Given the description of an element on the screen output the (x, y) to click on. 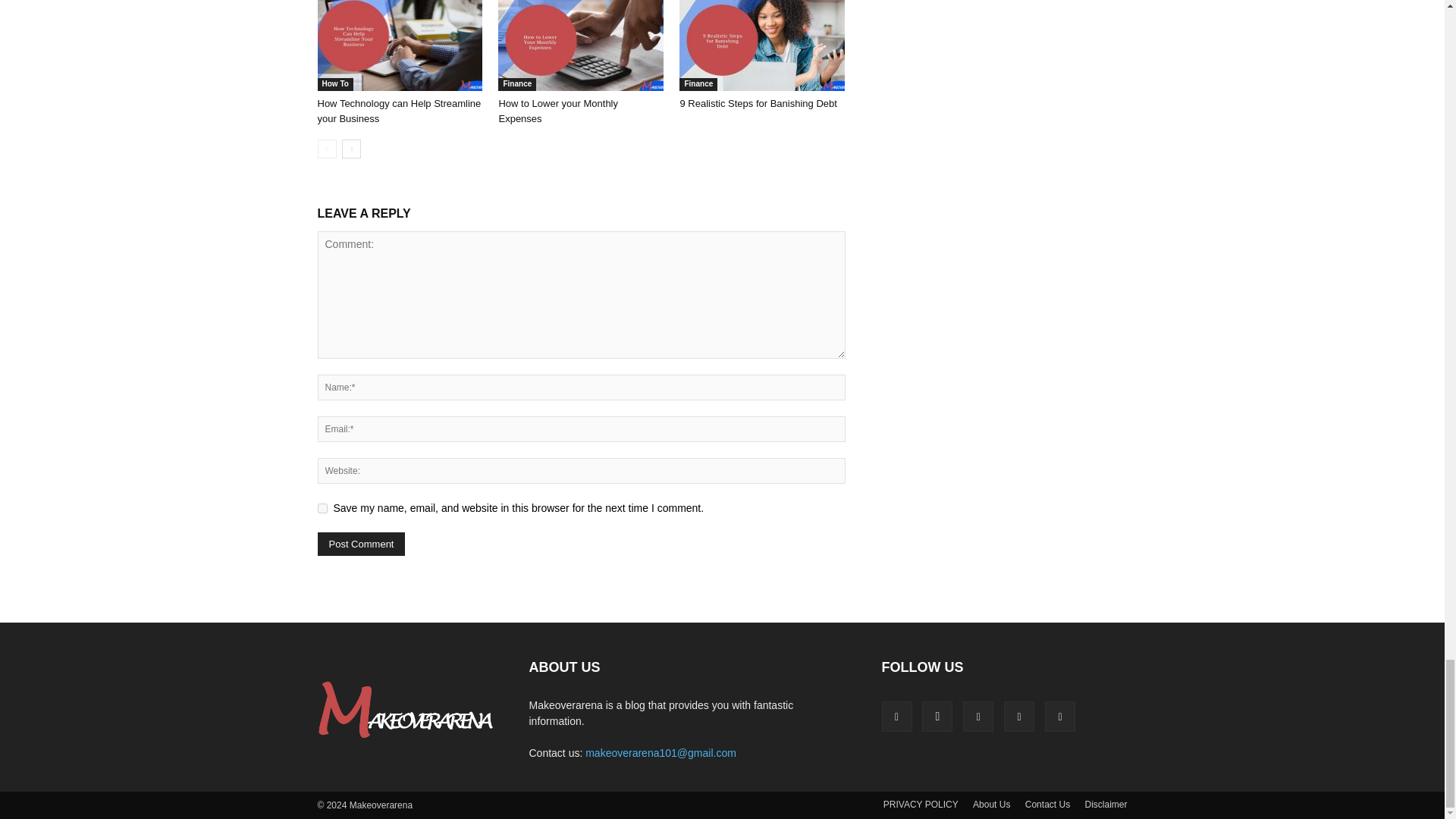
How Technology can Help Streamline your Business (399, 45)
Post Comment (360, 544)
yes (321, 508)
